Given the description of an element on the screen output the (x, y) to click on. 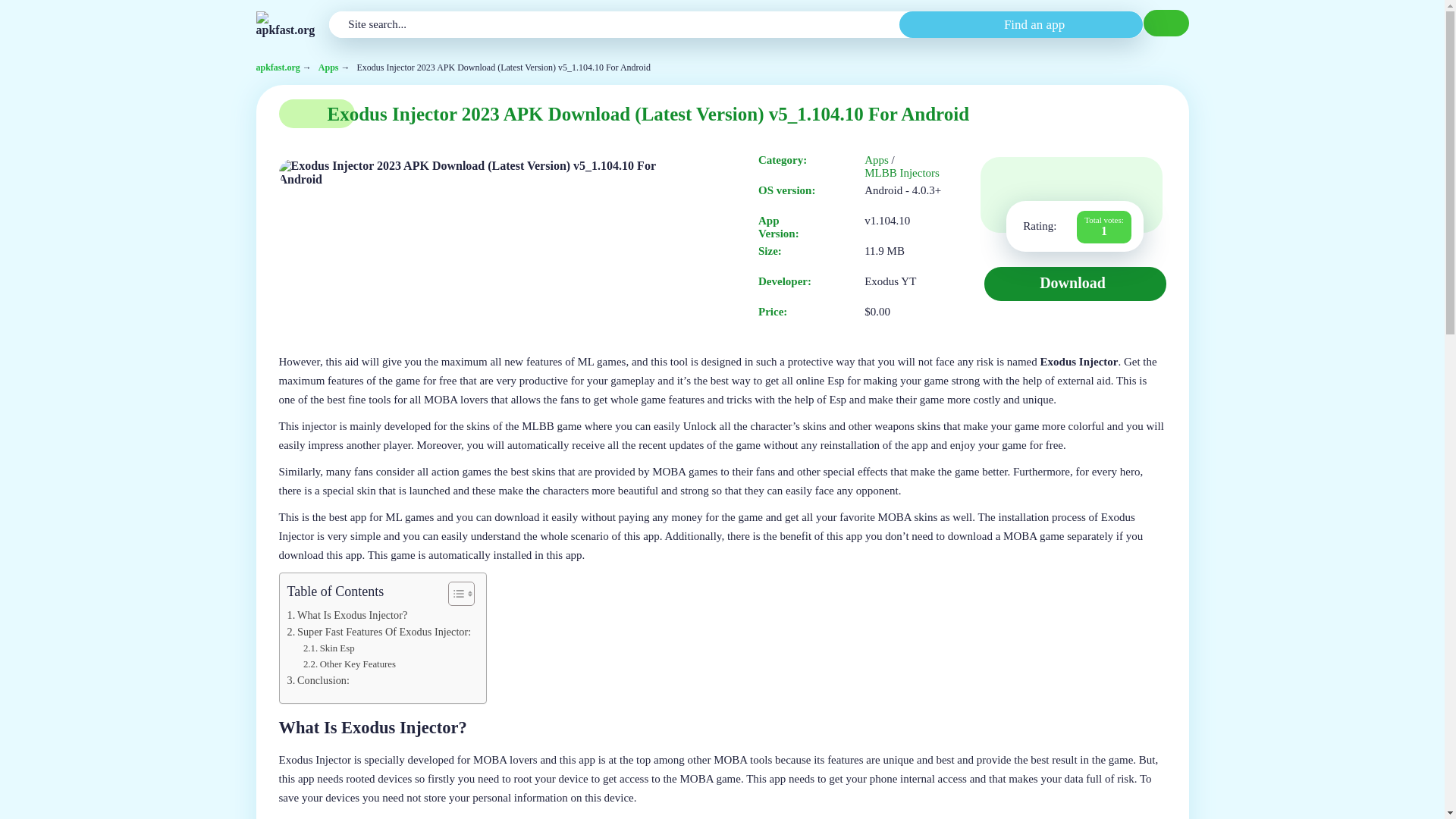
Skin Esp (328, 648)
Find an app (1020, 24)
Good (1099, 181)
Conclusion: (317, 680)
Games (328, 68)
Other Key Features (349, 664)
What Is Exodus Injector? (346, 615)
2 (1045, 181)
Conclusion: (317, 680)
1 (1019, 181)
Apps (876, 160)
Apps (328, 68)
apkfast.org (277, 68)
Useless (1019, 181)
MLBB Injectors (901, 173)
